Given the description of an element on the screen output the (x, y) to click on. 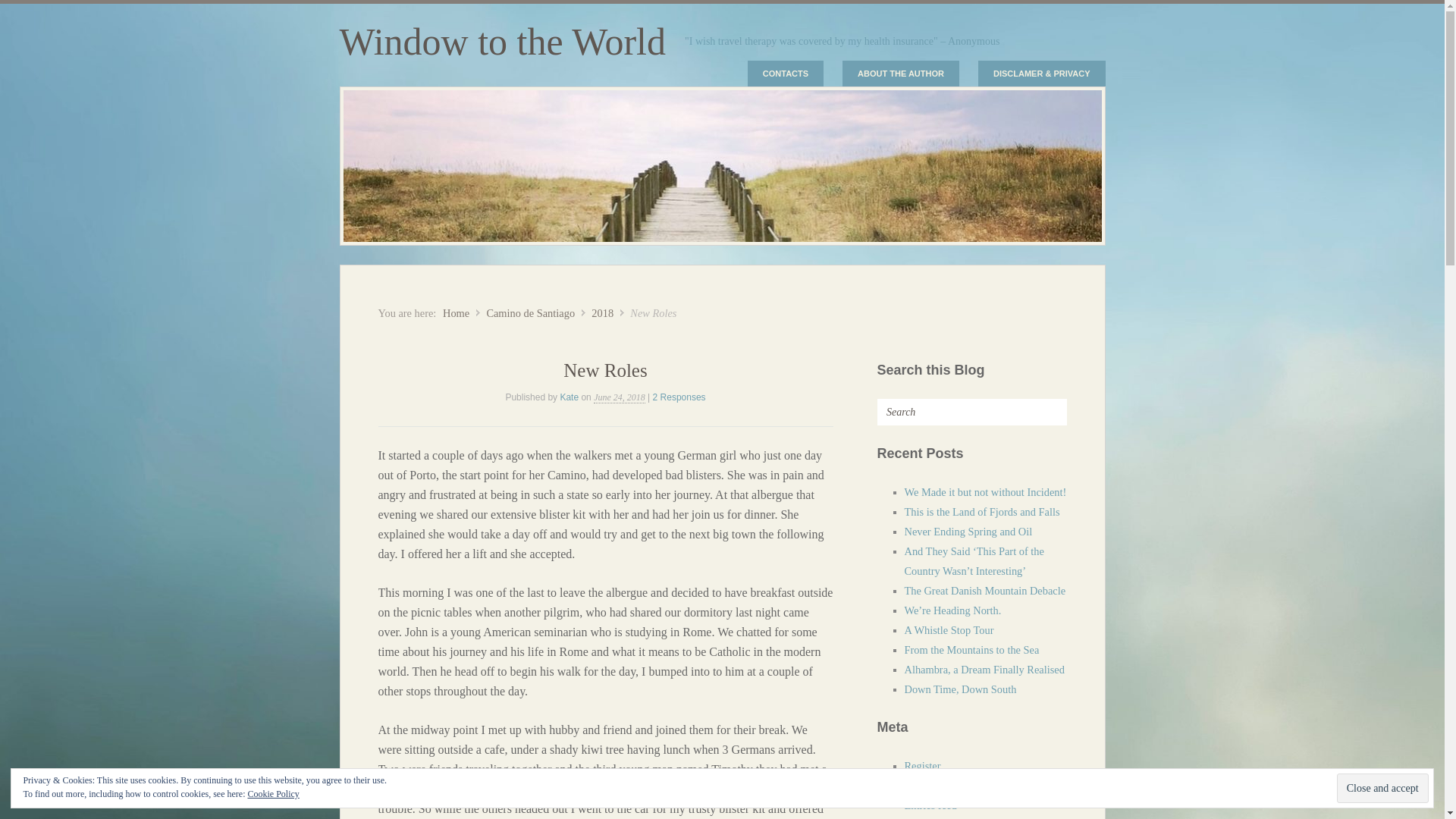
Window to the World (502, 41)
Close and accept (1382, 788)
ABOUT THE AUTHOR (901, 73)
2018 (601, 313)
2 Responses (679, 397)
Kate (568, 397)
New Roles (604, 370)
Window to the World (502, 41)
Comment on New Roles (679, 397)
Home (455, 313)
